Given the description of an element on the screen output the (x, y) to click on. 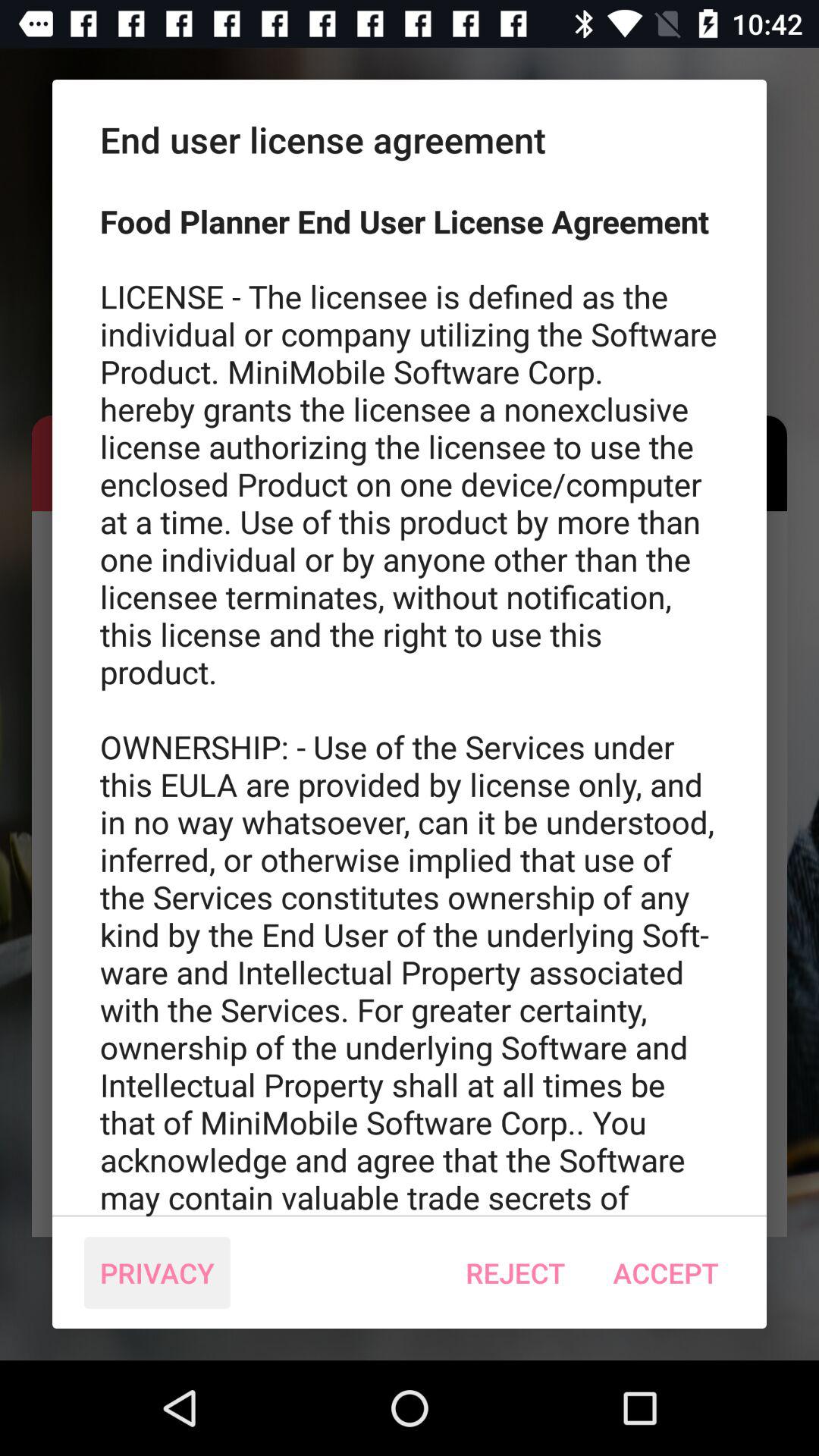
jump until the privacy icon (157, 1272)
